Given the description of an element on the screen output the (x, y) to click on. 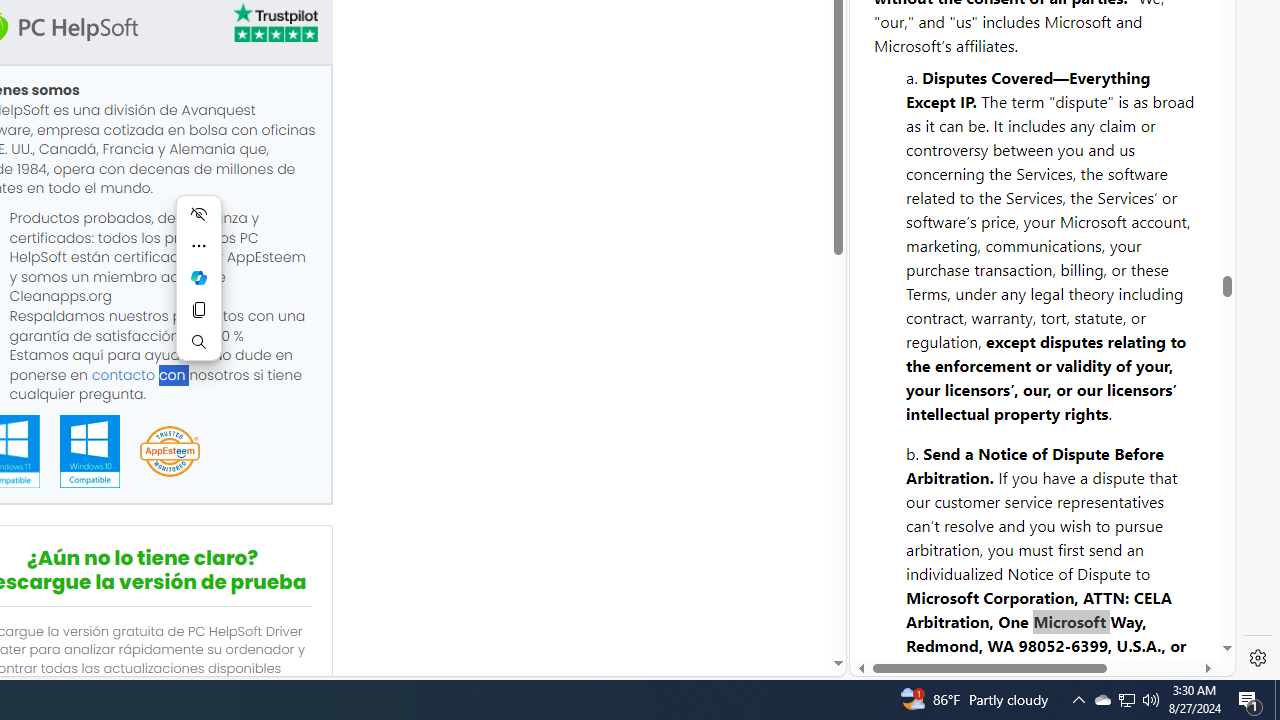
Advertise (1067, 611)
TrustPilot (274, 22)
App Esteem (169, 452)
Privacy (922, 602)
TrustPilot (274, 25)
App Esteem (169, 452)
Open in New Tab (1042, 631)
Hide menu (198, 213)
Ask Copilot (198, 277)
Legal (992, 611)
Windows 10 Compatible (89, 451)
